Given the description of an element on the screen output the (x, y) to click on. 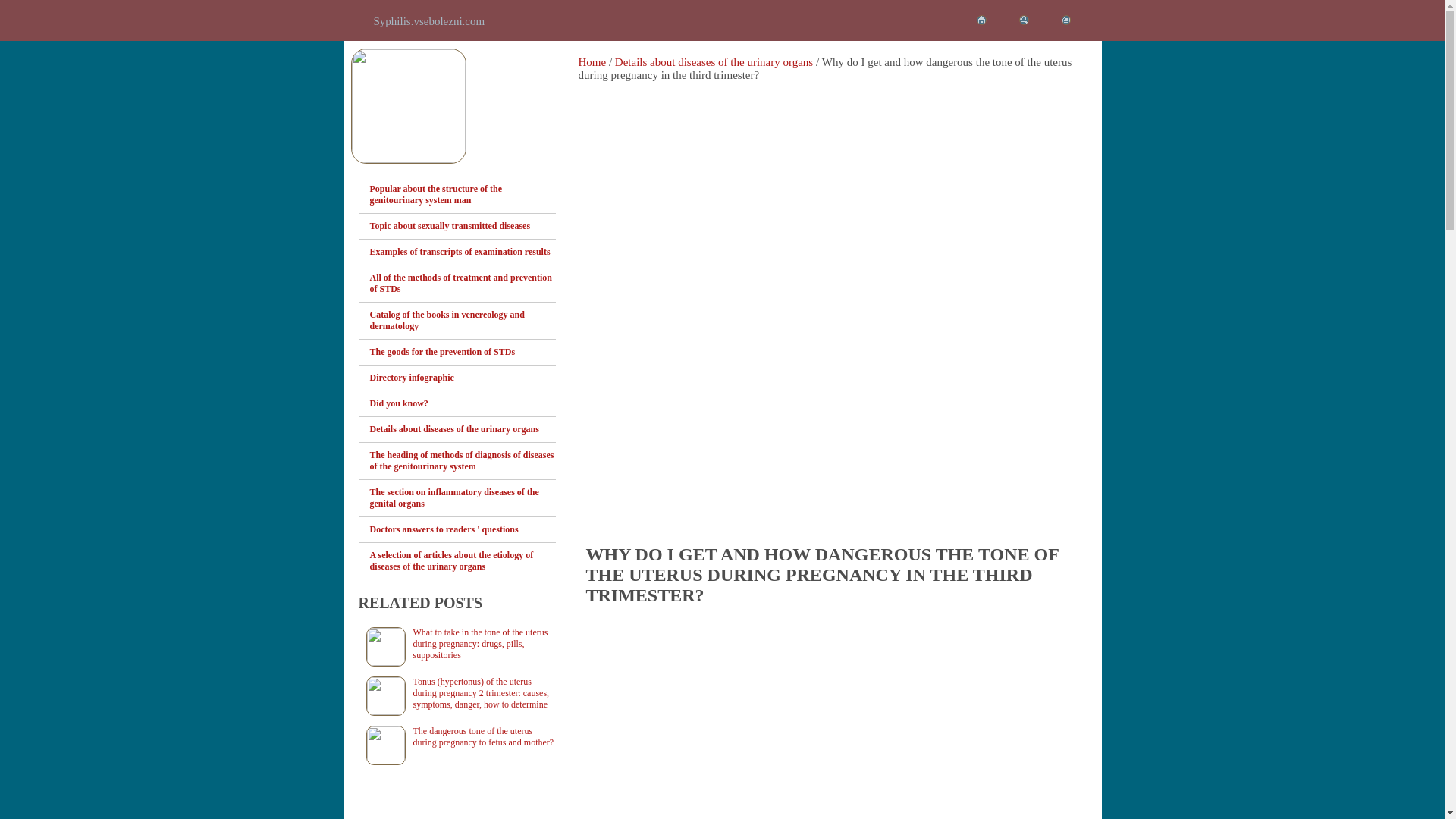
All of the methods of treatment and prevention of STDs (462, 283)
The goods for the prevention of STDs (462, 351)
Did you know? (462, 403)
Directory infographic (462, 377)
Details about diseases of the urinary organs (713, 61)
Syphilis.vsebolezni.com (428, 21)
